Given the description of an element on the screen output the (x, y) to click on. 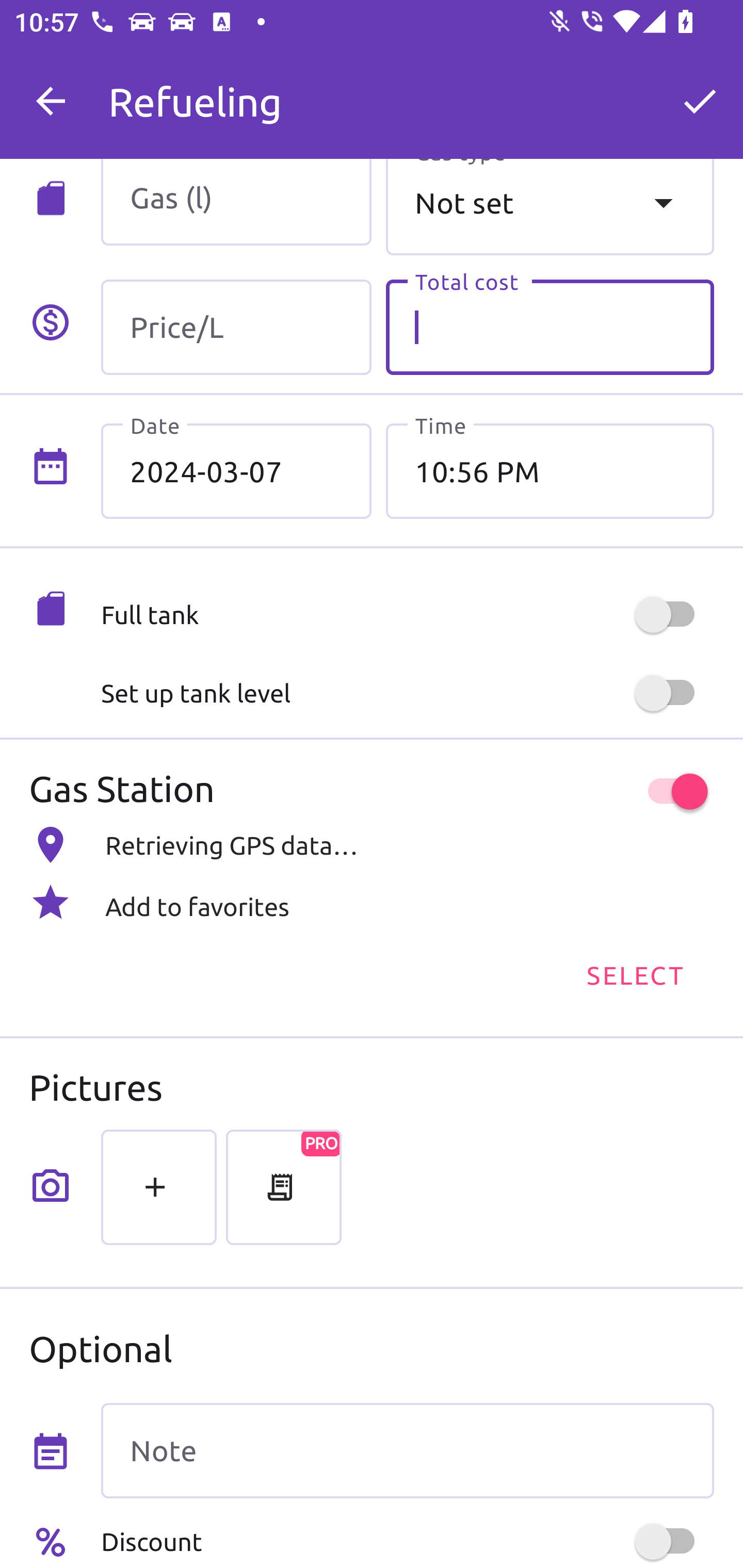
M My Car 0 km (407, 92)
Navigate up (50, 101)
OK (699, 101)
Gas (l) (236, 202)
Not set (549, 206)
Price/L (236, 326)
Total cost  (549, 326)
2024-03-07 (236, 471)
10:56 PM (549, 471)
Full tank (407, 614)
Set up tank level (407, 692)
Add to favorites (371, 902)
SELECT (634, 974)
Note (407, 1451)
Discount (407, 1541)
